Given the description of an element on the screen output the (x, y) to click on. 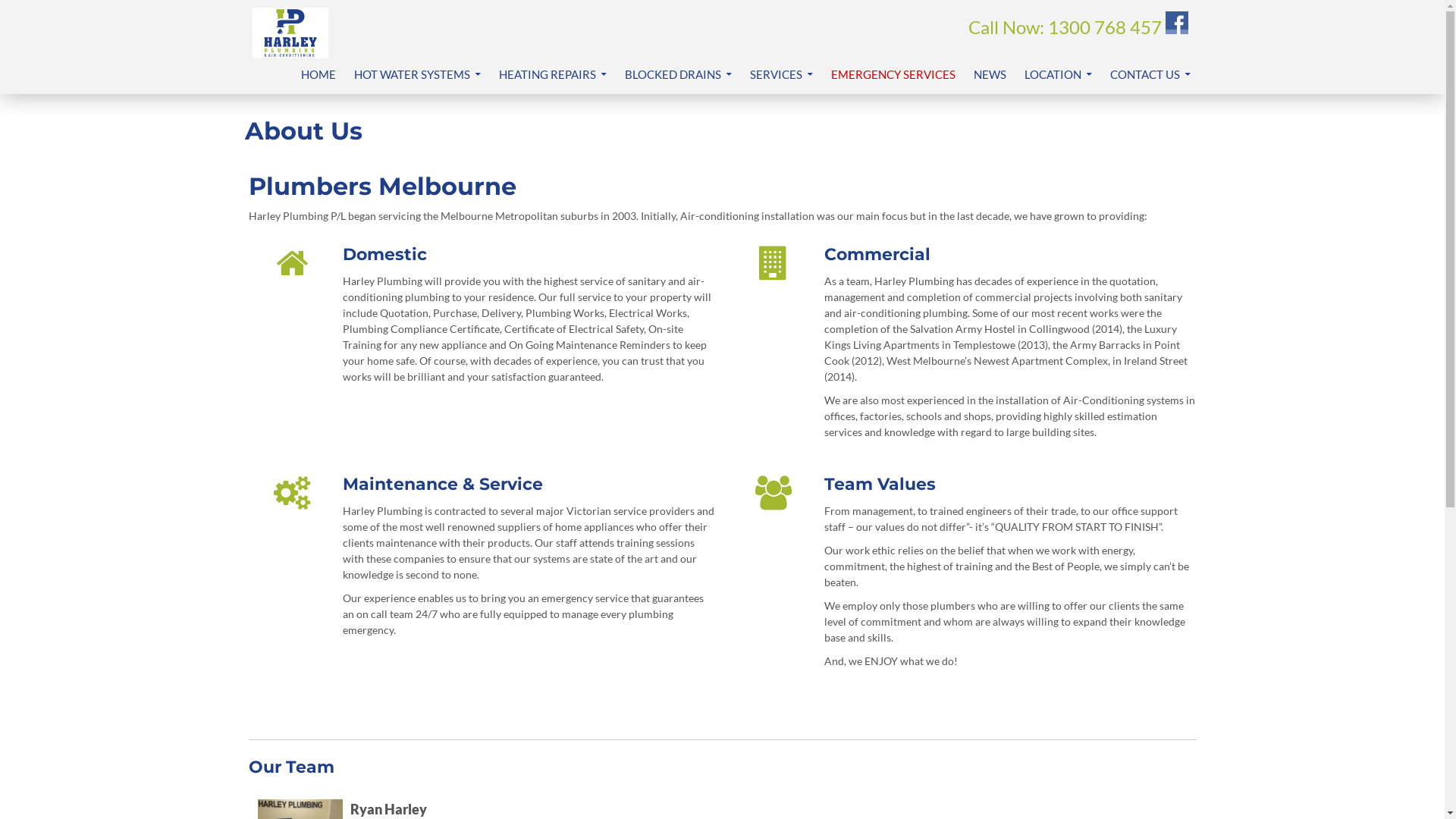
SERVICES Element type: text (780, 74)
CONTACT US Element type: text (1150, 74)
1300 768 457 Element type: text (1104, 26)
LOCATION Element type: text (1057, 74)
HOT WATER SYSTEMS Element type: text (416, 74)
SKIP TO CONTENT Element type: text (300, 56)
NEWS Element type: text (989, 74)
HOME Element type: text (317, 74)
EMERGENCY SERVICES Element type: text (893, 74)
BLOCKED DRAINS Element type: text (677, 74)
HEATING REPAIRS Element type: text (552, 74)
